Given the description of an element on the screen output the (x, y) to click on. 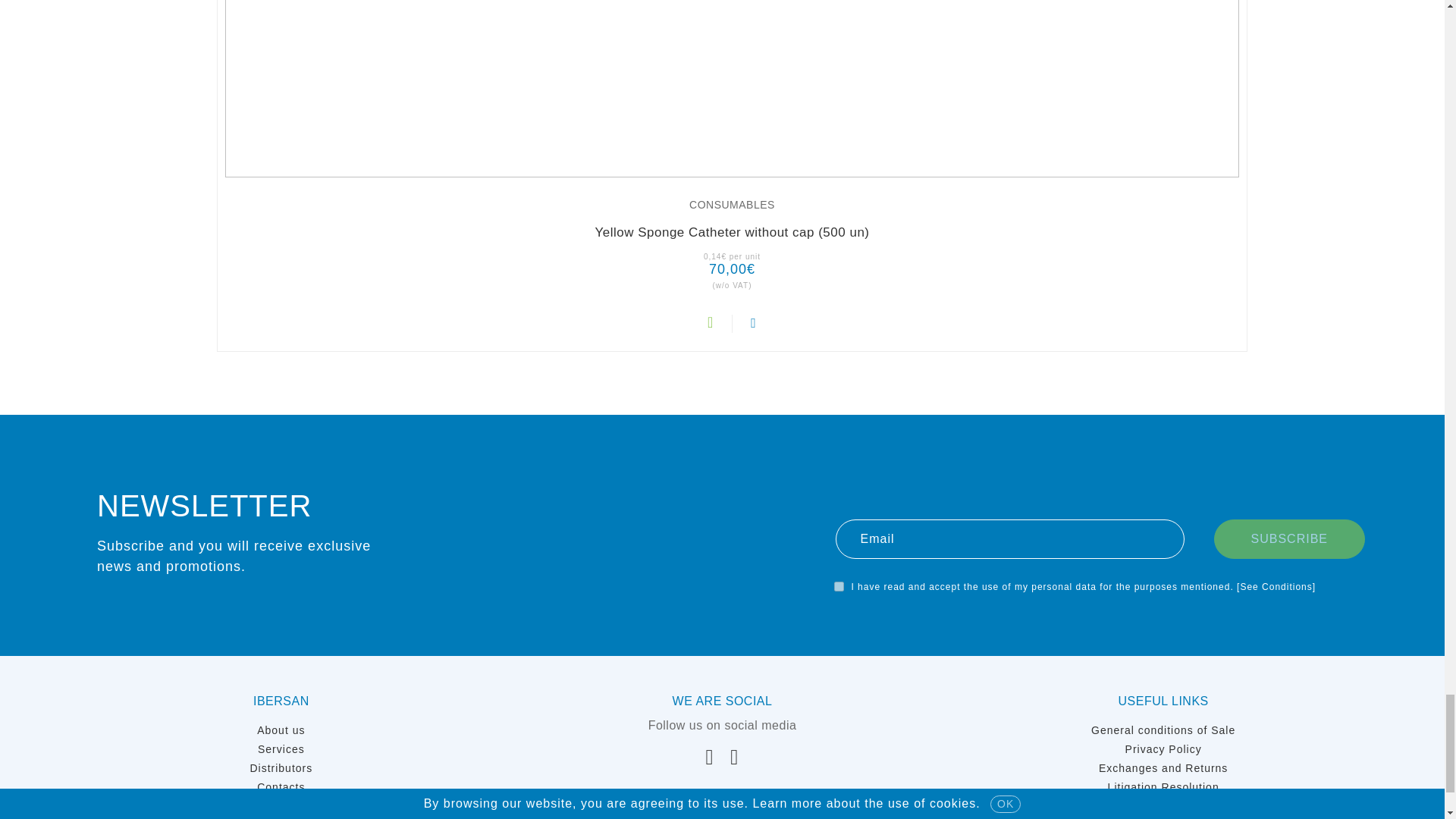
on (839, 586)
